Given the description of an element on the screen output the (x, y) to click on. 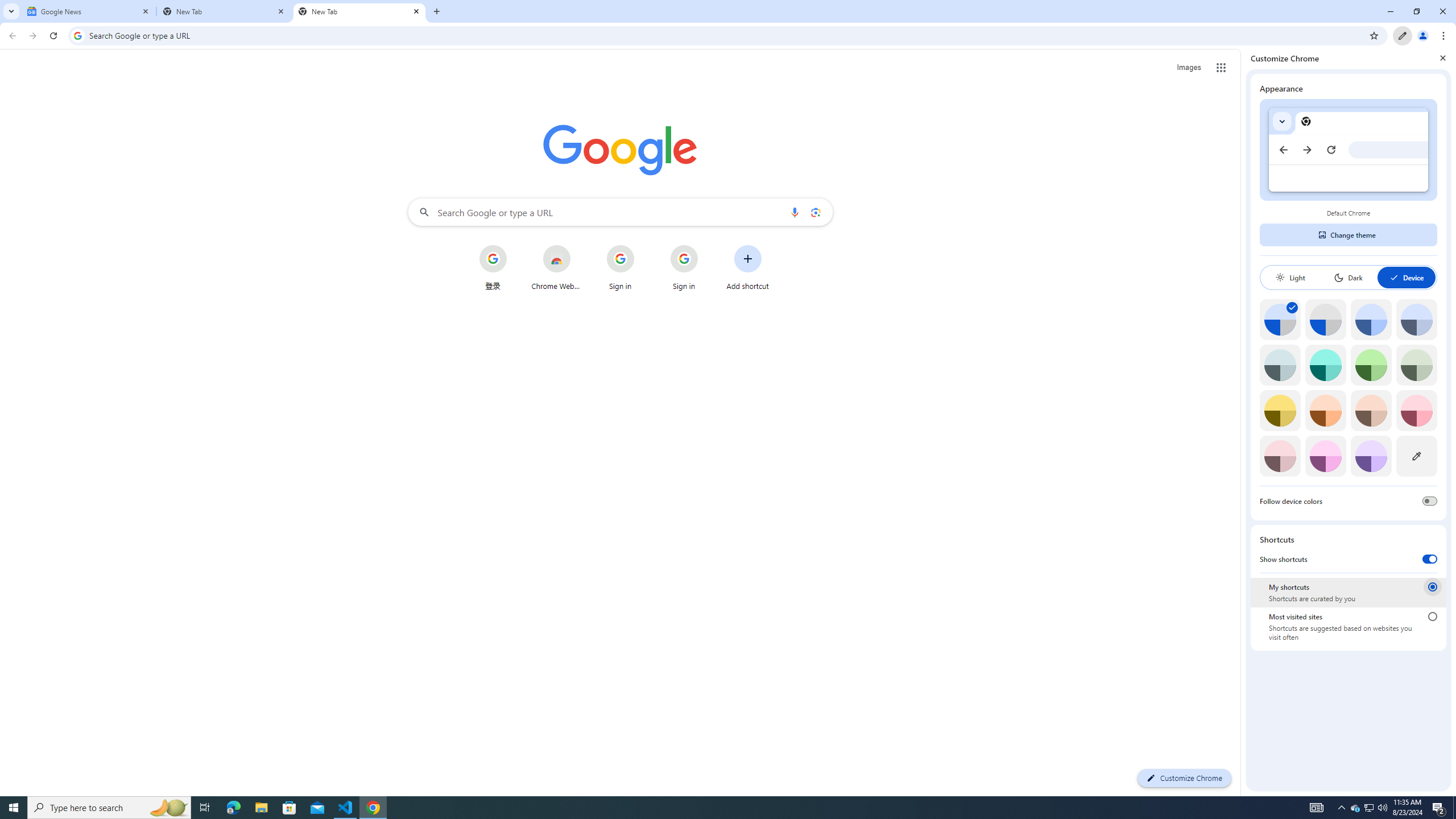
Default color (1279, 318)
More actions for Chrome Web Store shortcut (579, 245)
AutomationID: svg (1292, 307)
Search icon (77, 35)
Rose (1416, 409)
Violet (1371, 455)
Device (1406, 277)
Google News (88, 11)
Green (1371, 364)
Apricot (1371, 409)
Search by voice (794, 212)
Aqua (1325, 364)
